Given the description of an element on the screen output the (x, y) to click on. 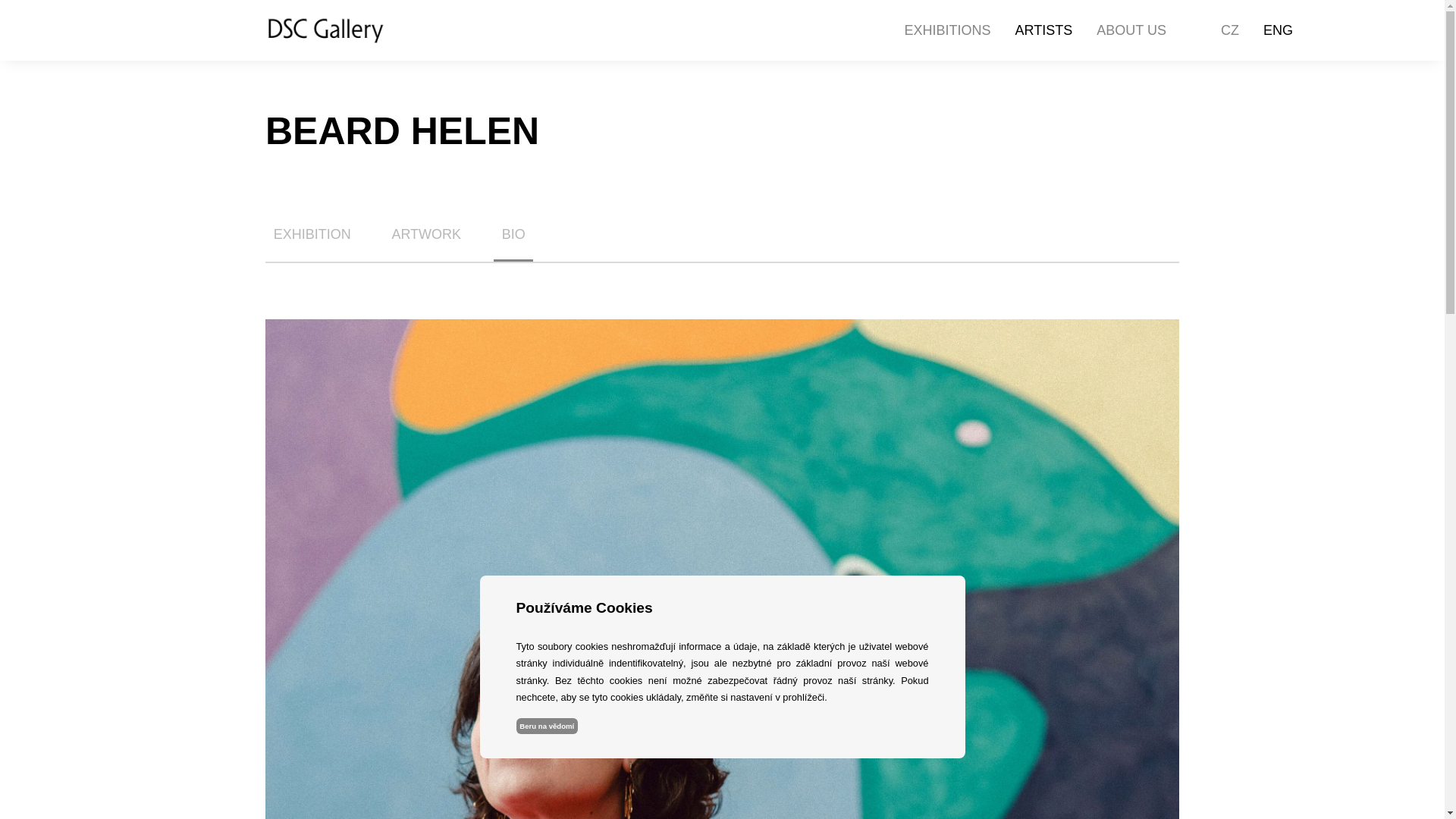
ARTWORK (426, 234)
EXHIBITION (312, 234)
ARTISTS (1043, 30)
ENG (1277, 30)
EXHIBITIONS (947, 30)
CZ (1230, 30)
ABOUT US (1131, 30)
BIO (513, 234)
